Given the description of an element on the screen output the (x, y) to click on. 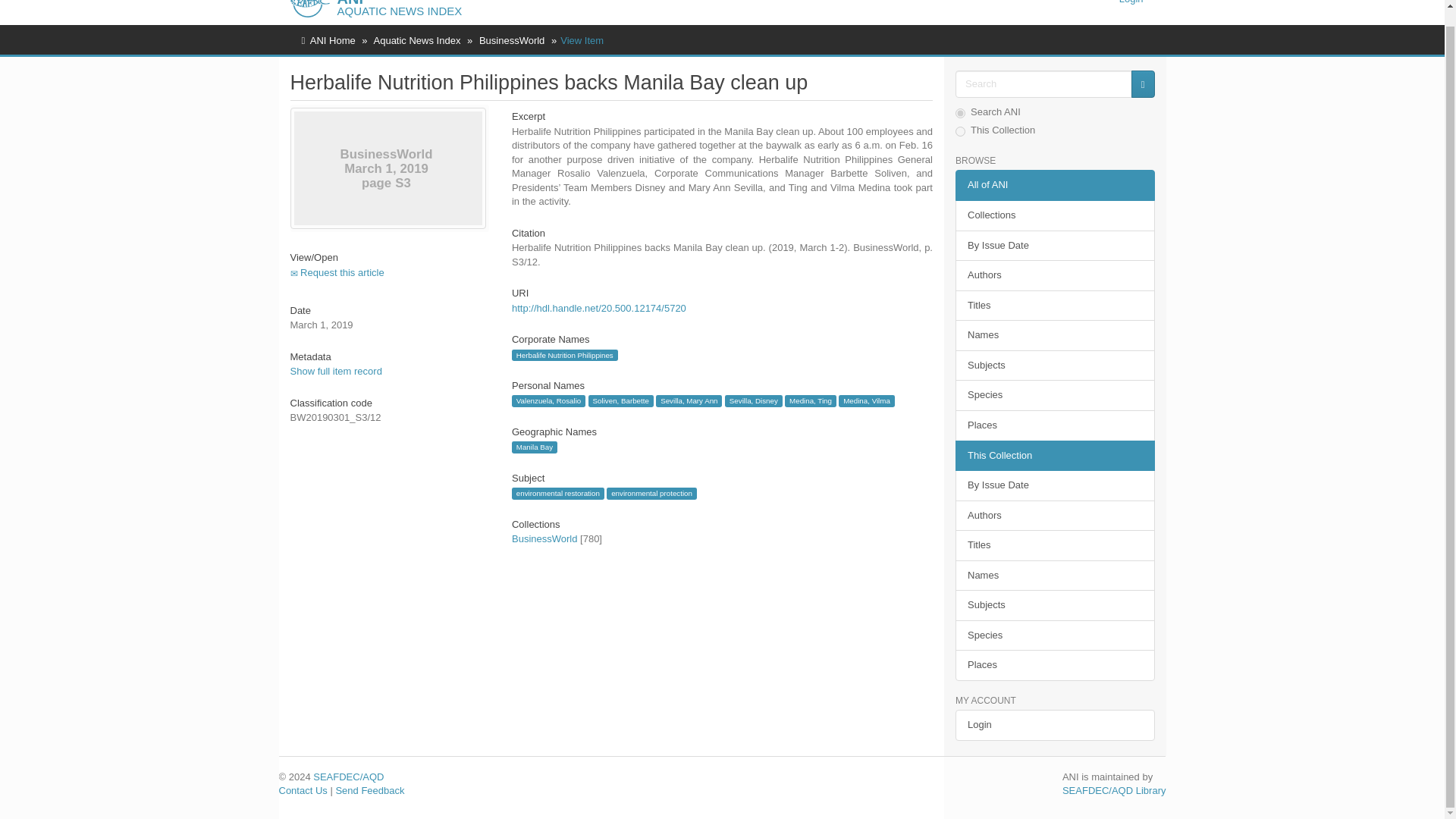
BusinessWorld (544, 538)
Soliven, Barbette (620, 400)
Subjects (1054, 365)
BusinessWorld (511, 40)
Sevilla, Mary Ann (689, 400)
Collections (1054, 214)
Herbalife Nutrition Philippines (564, 355)
Sevilla, Disney (754, 400)
environmental protection (651, 493)
Valenzuela, Rosalio (548, 400)
